Given the description of an element on the screen output the (x, y) to click on. 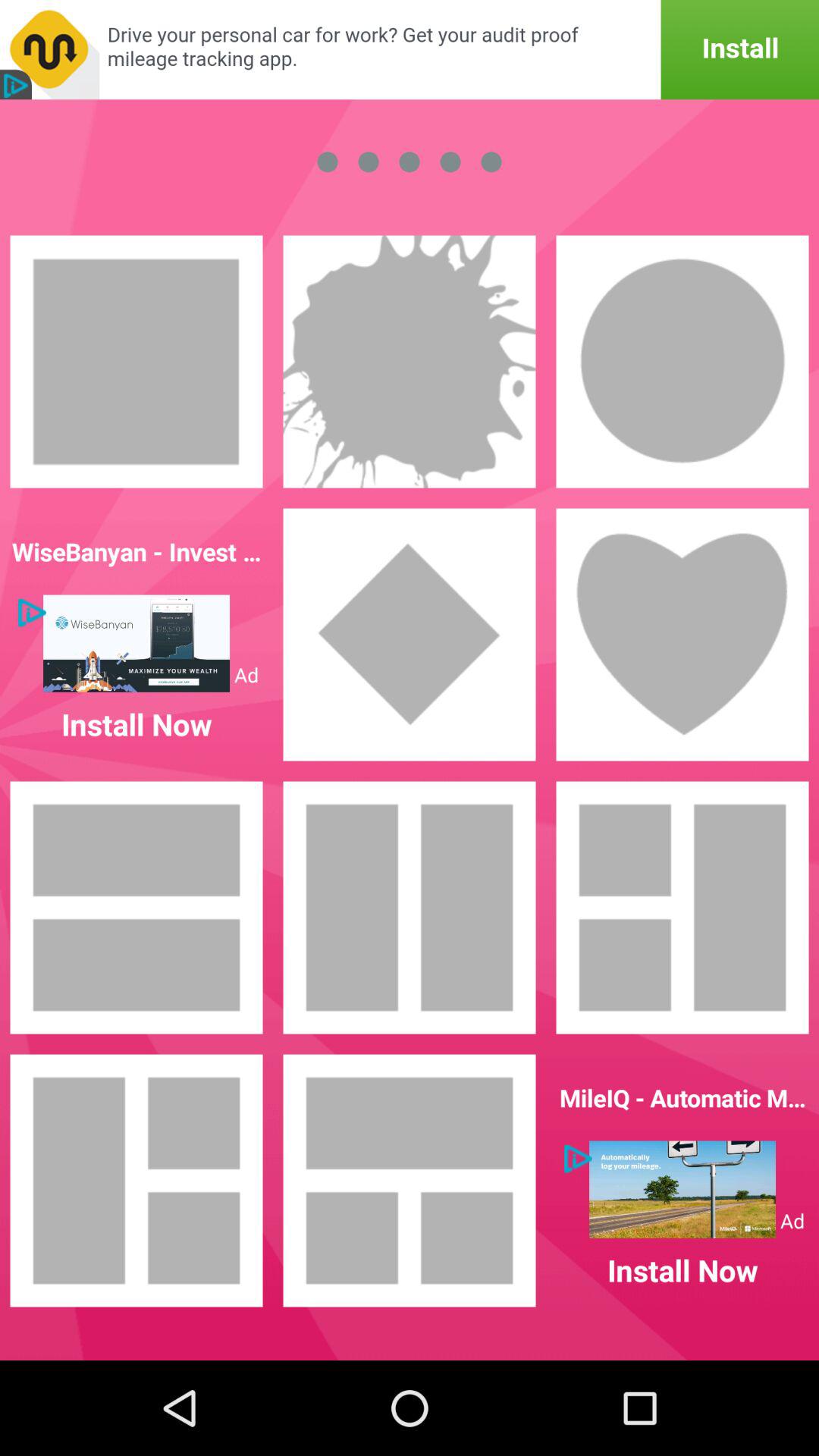
heart (682, 634)
